Given the description of an element on the screen output the (x, y) to click on. 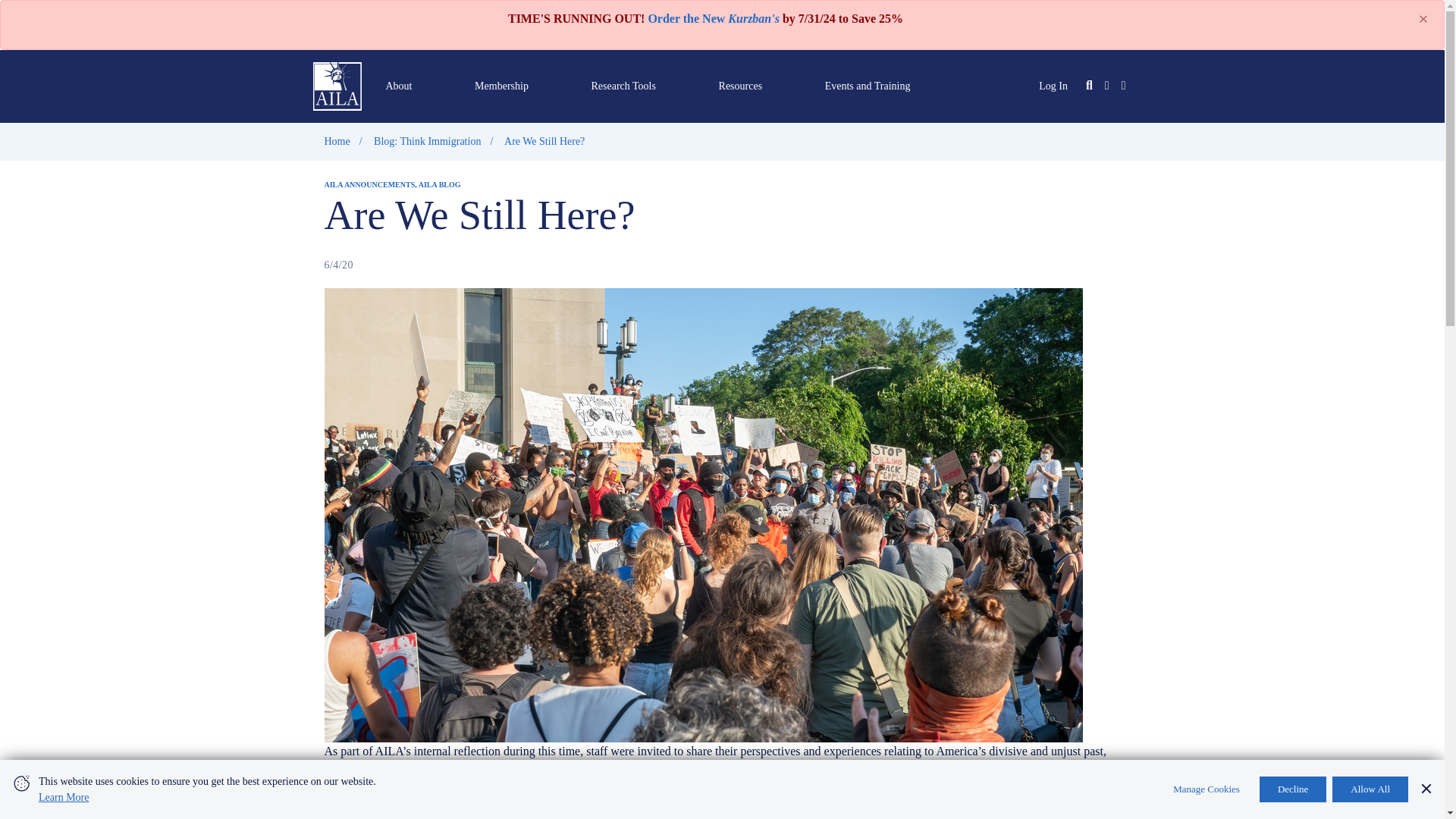
Log In (1053, 85)
Order the New Kurzban's (712, 18)
Log In (1053, 85)
